Given the description of an element on the screen output the (x, y) to click on. 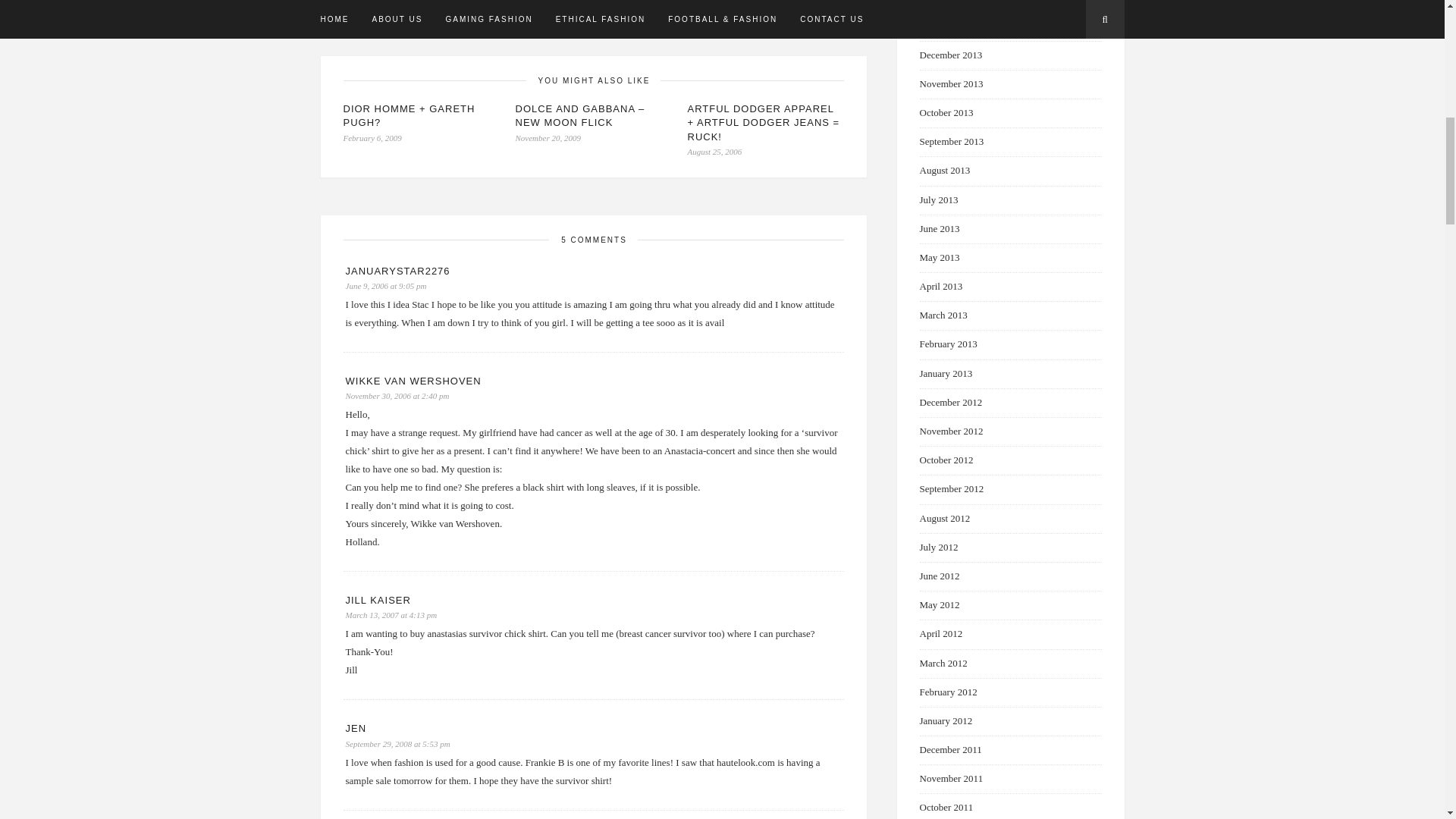
NEXT POST (736, 9)
PREVIOUS POST (449, 9)
